Given the description of an element on the screen output the (x, y) to click on. 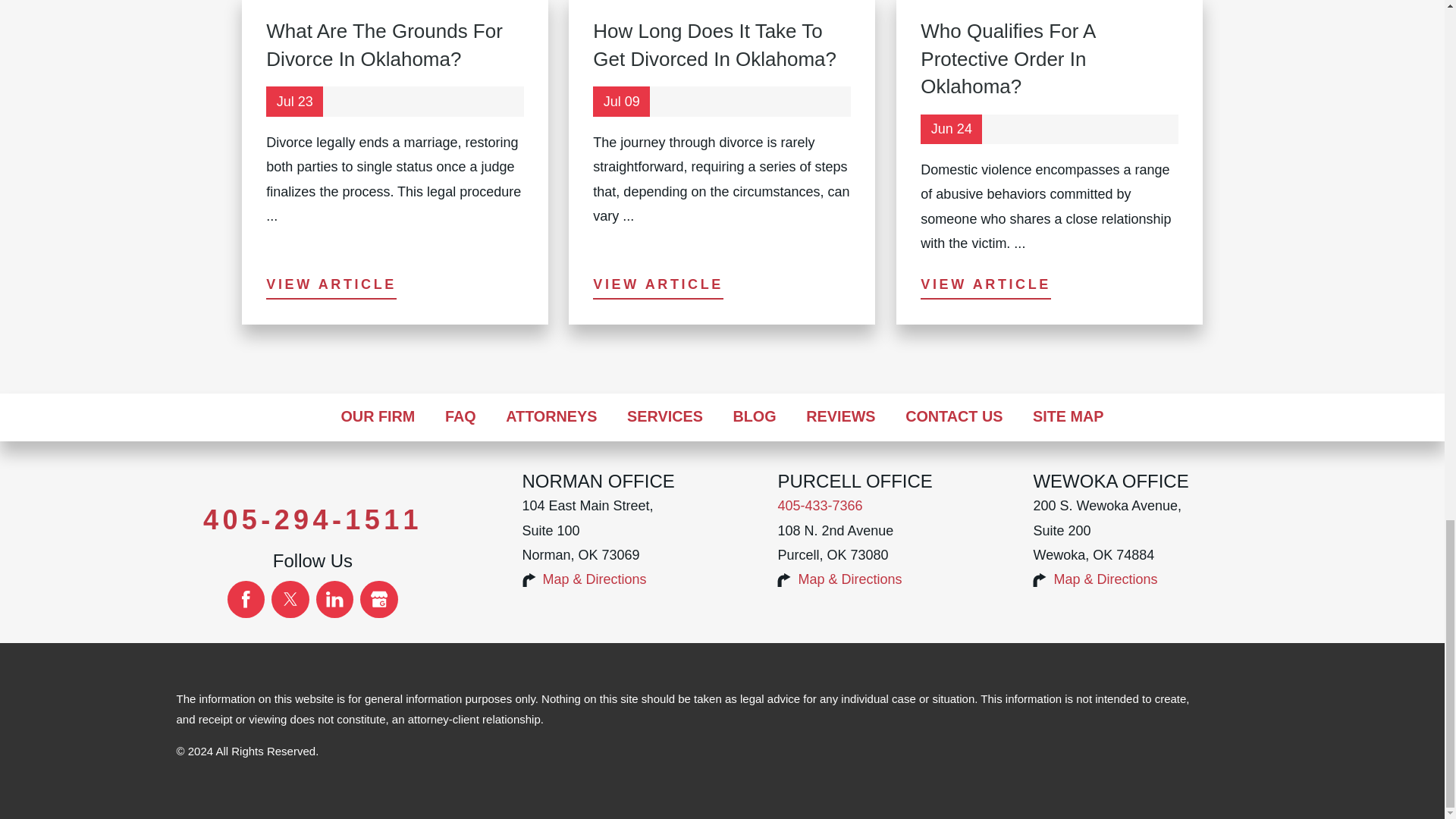
Site Icon (1039, 580)
Twitter (289, 599)
Facebook (245, 599)
Site Icon (528, 580)
Site Icon (783, 580)
LinkedIn (334, 599)
Google Business Profile (378, 599)
